Given the description of an element on the screen output the (x, y) to click on. 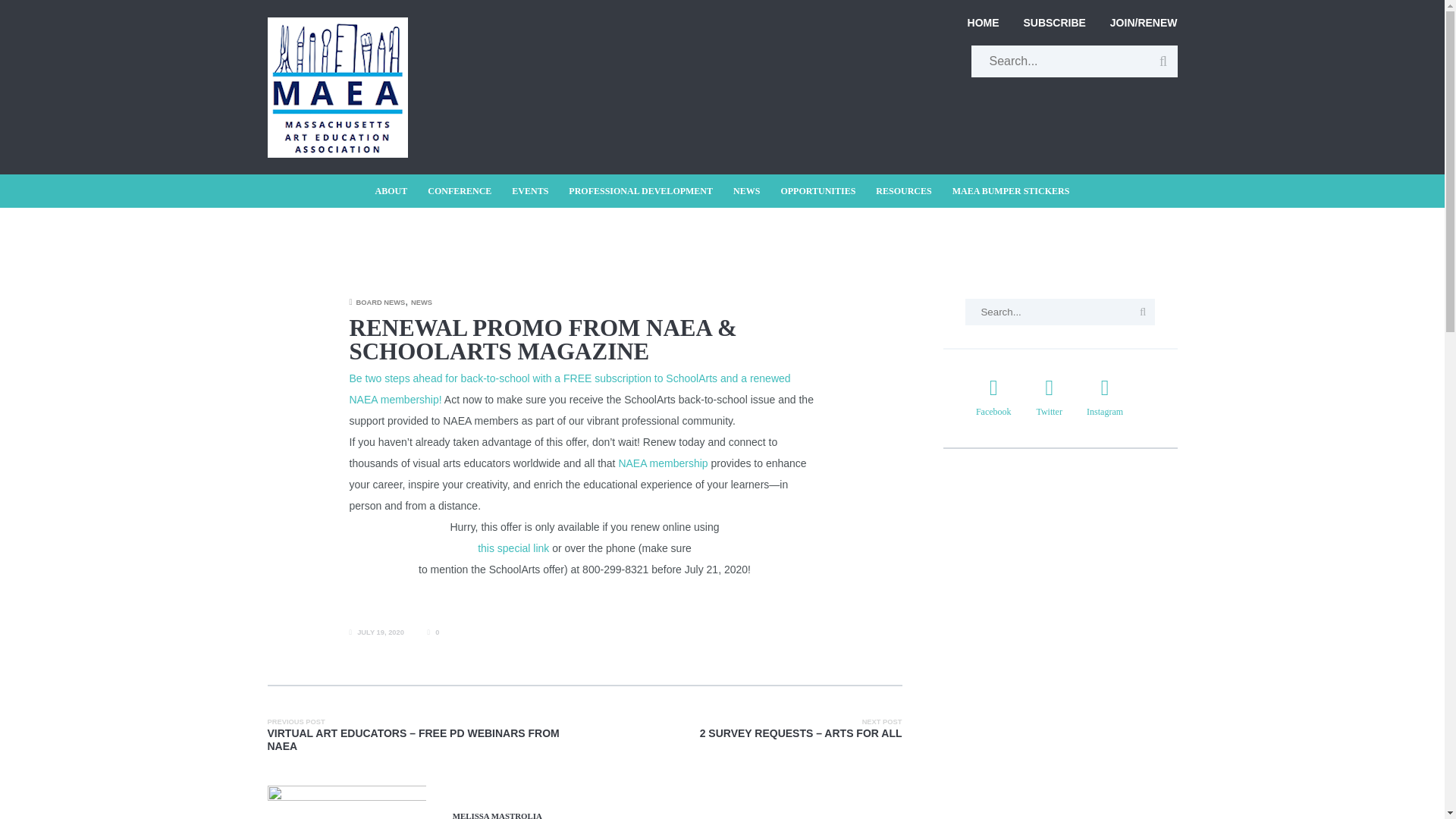
ABOUT (395, 191)
OPPORTUNITIES (817, 191)
CONFERENCE (459, 191)
Massachusetts Art Education Association (336, 25)
PROFESSIONAL DEVELOPMENT (640, 191)
Search (1163, 61)
HOME (989, 22)
EVENTS (529, 191)
Search (1142, 312)
SUBSCRIBE (1053, 22)
NEWS (745, 191)
